Given the description of an element on the screen output the (x, y) to click on. 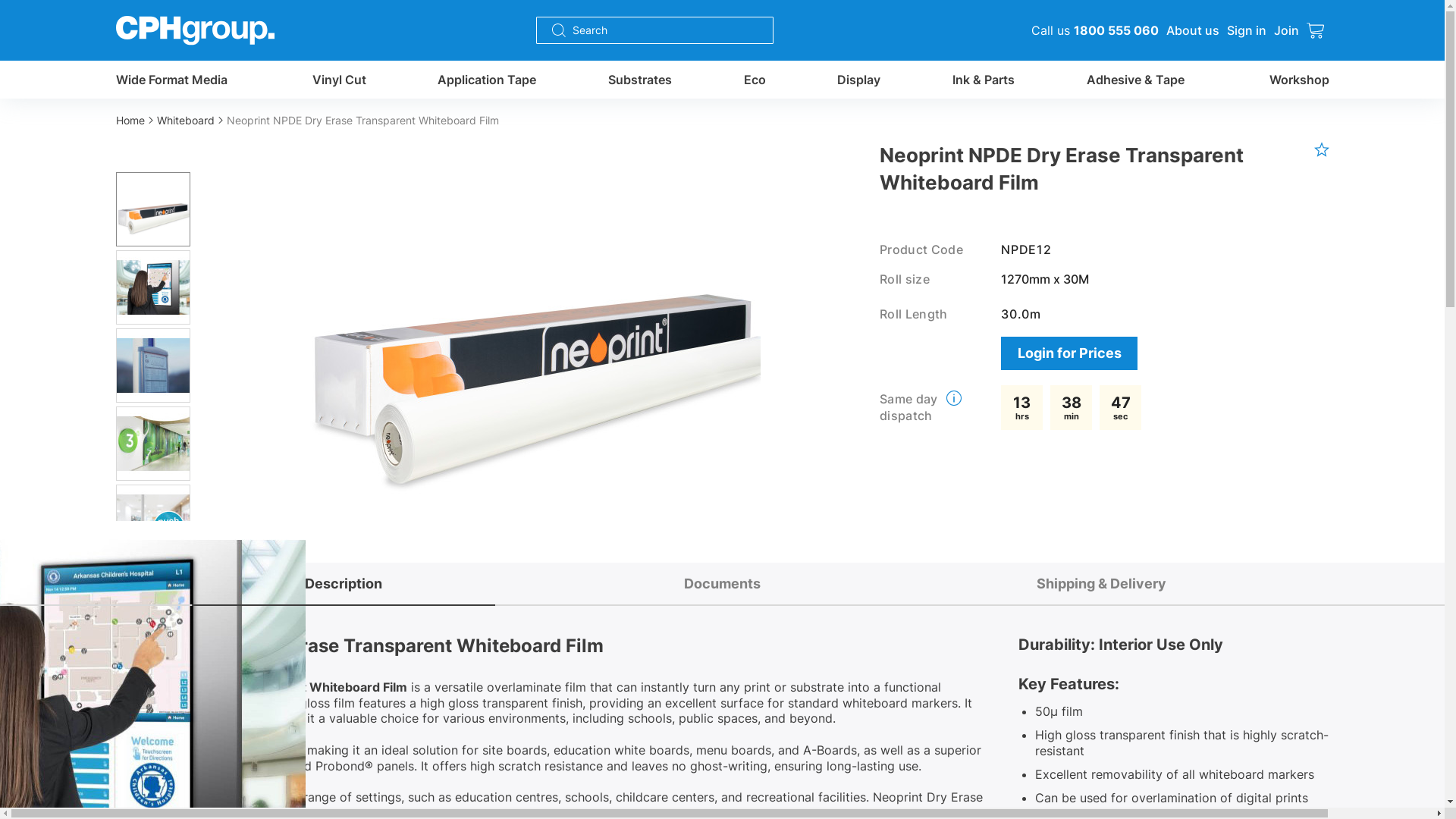
Home Element type: text (135, 119)
About us Element type: text (1192, 30)
Sign in Element type: text (1246, 30)
Call us 1800 555 060 Element type: text (1094, 30)
favourite product Element type: hover (1320, 148)
Login for Prices Element type: text (1069, 353)
Join Element type: text (1286, 30)
Whiteboard Element type: text (190, 119)
